Given the description of an element on the screen output the (x, y) to click on. 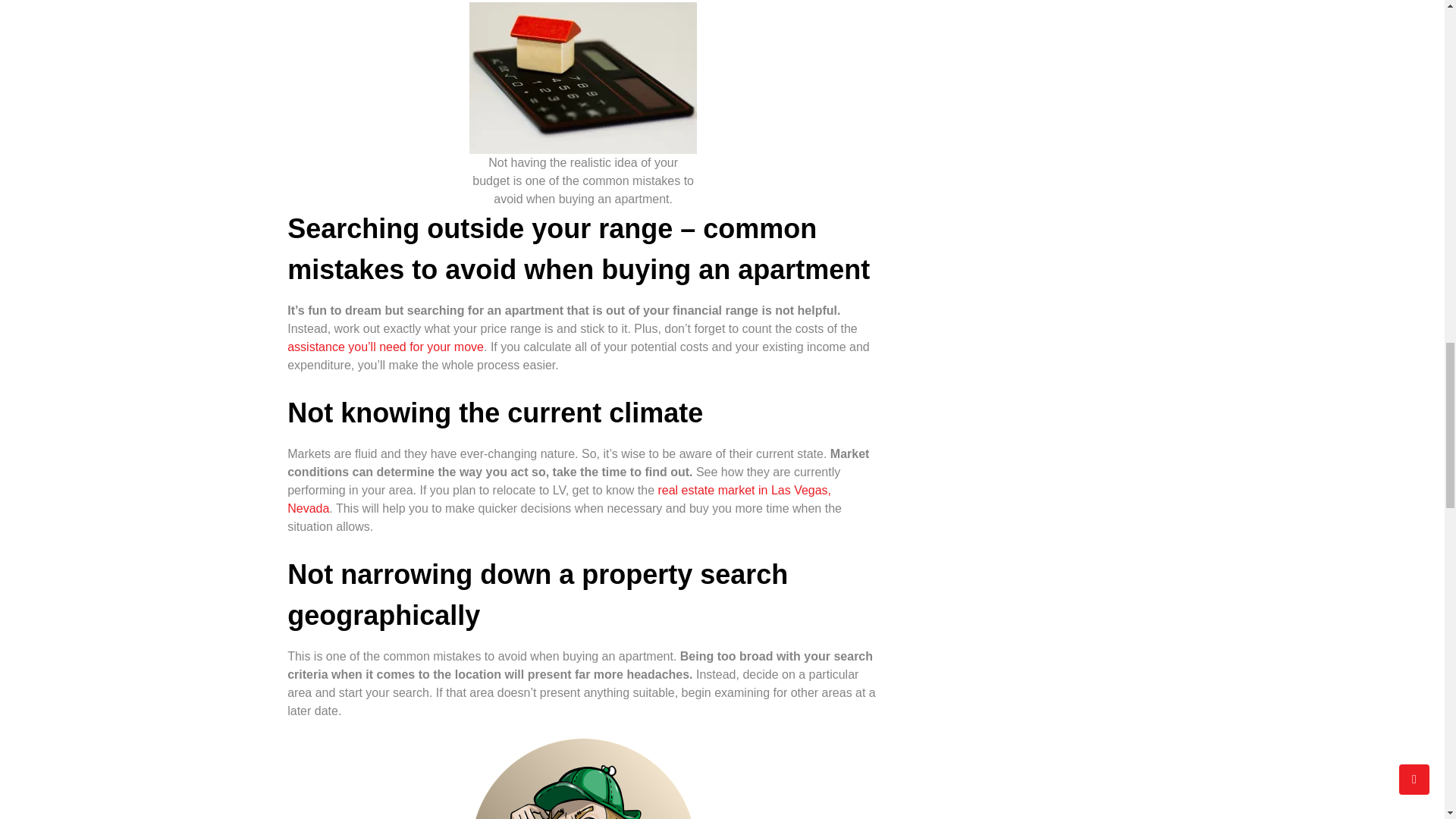
real estate market in Las Vegas, Nevada (558, 499)
